Given the description of an element on the screen output the (x, y) to click on. 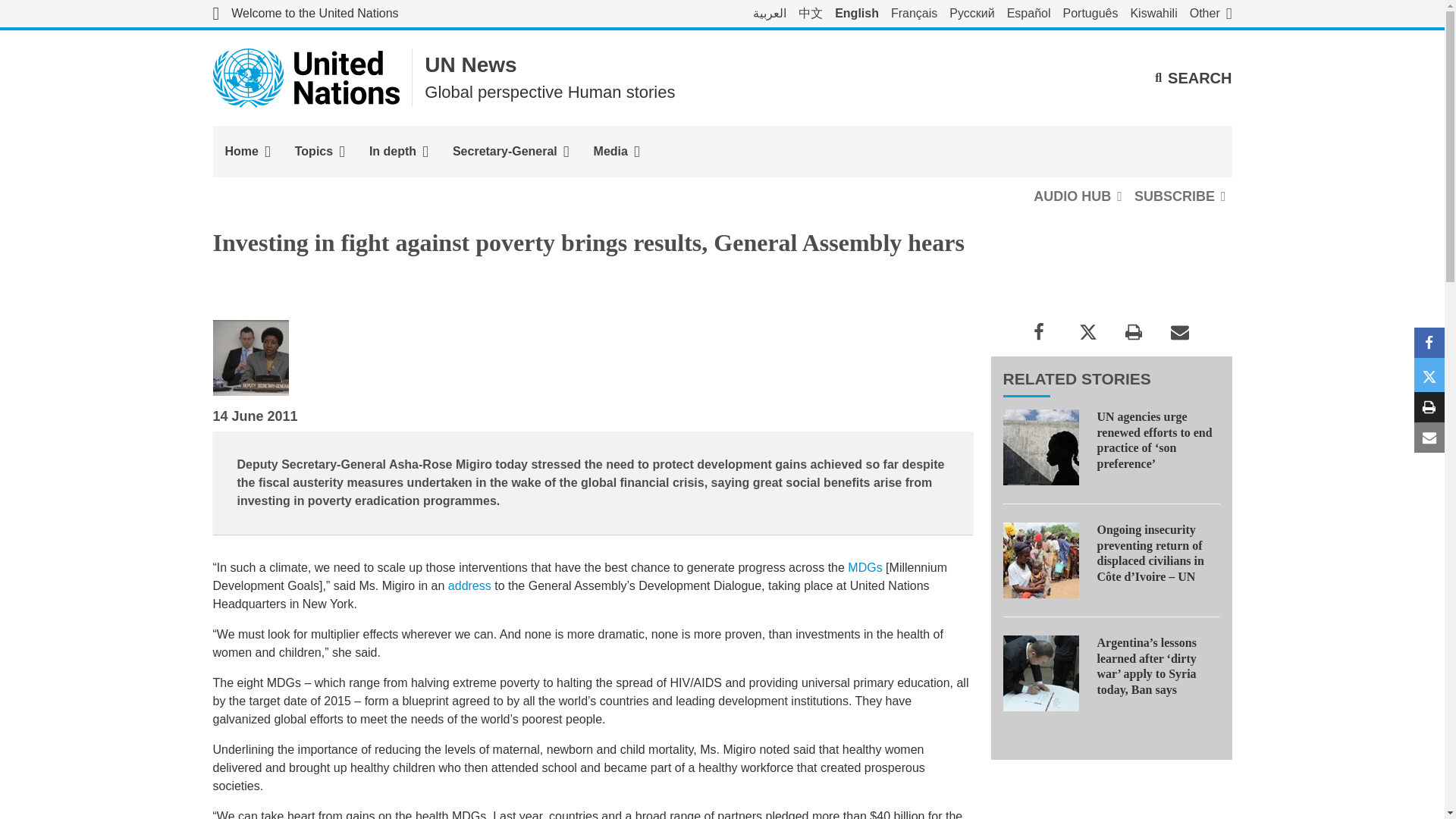
SEARCH (1192, 77)
Kiswahili (1152, 13)
Topics (319, 151)
Home (247, 151)
UN News (470, 64)
Welcome to the United Nations (304, 13)
English (856, 13)
United Nations (304, 13)
Other (1210, 13)
United Nations (305, 76)
Home (247, 151)
UN News (470, 64)
